Given the description of an element on the screen output the (x, y) to click on. 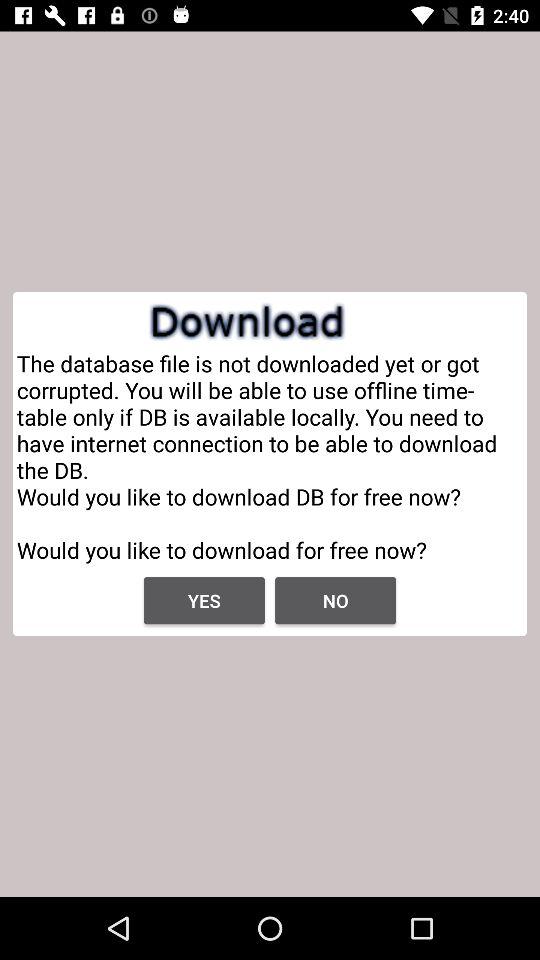
press the app below the the database file (335, 600)
